Given the description of an element on the screen output the (x, y) to click on. 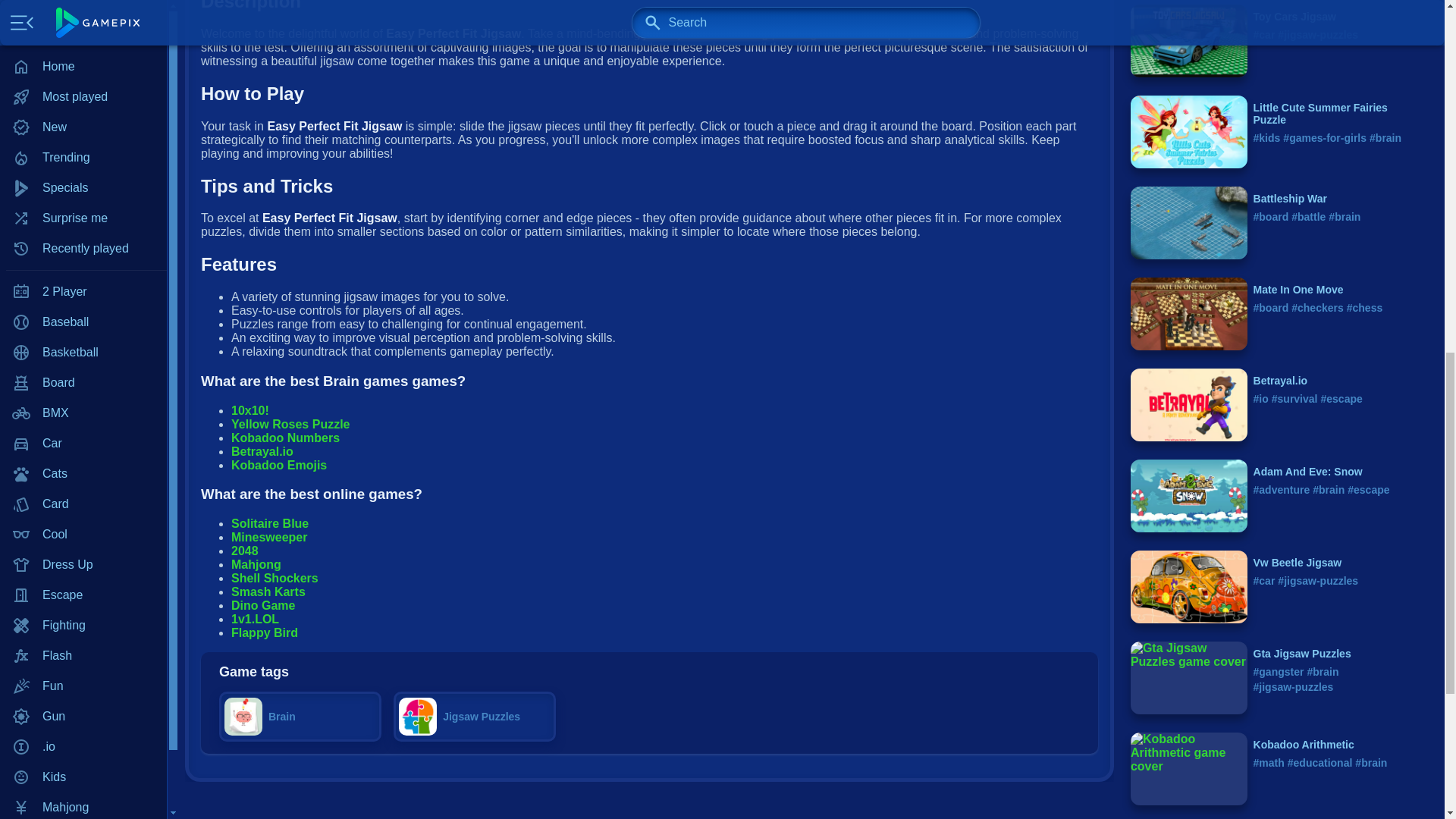
Solitaire (83, 231)
Puzzle (83, 110)
Poker (83, 79)
Racing (83, 140)
Soccer (83, 291)
Math (83, 49)
Shooter (83, 200)
Mario (83, 19)
Zombie (83, 382)
Snake (83, 261)
